Given the description of an element on the screen output the (x, y) to click on. 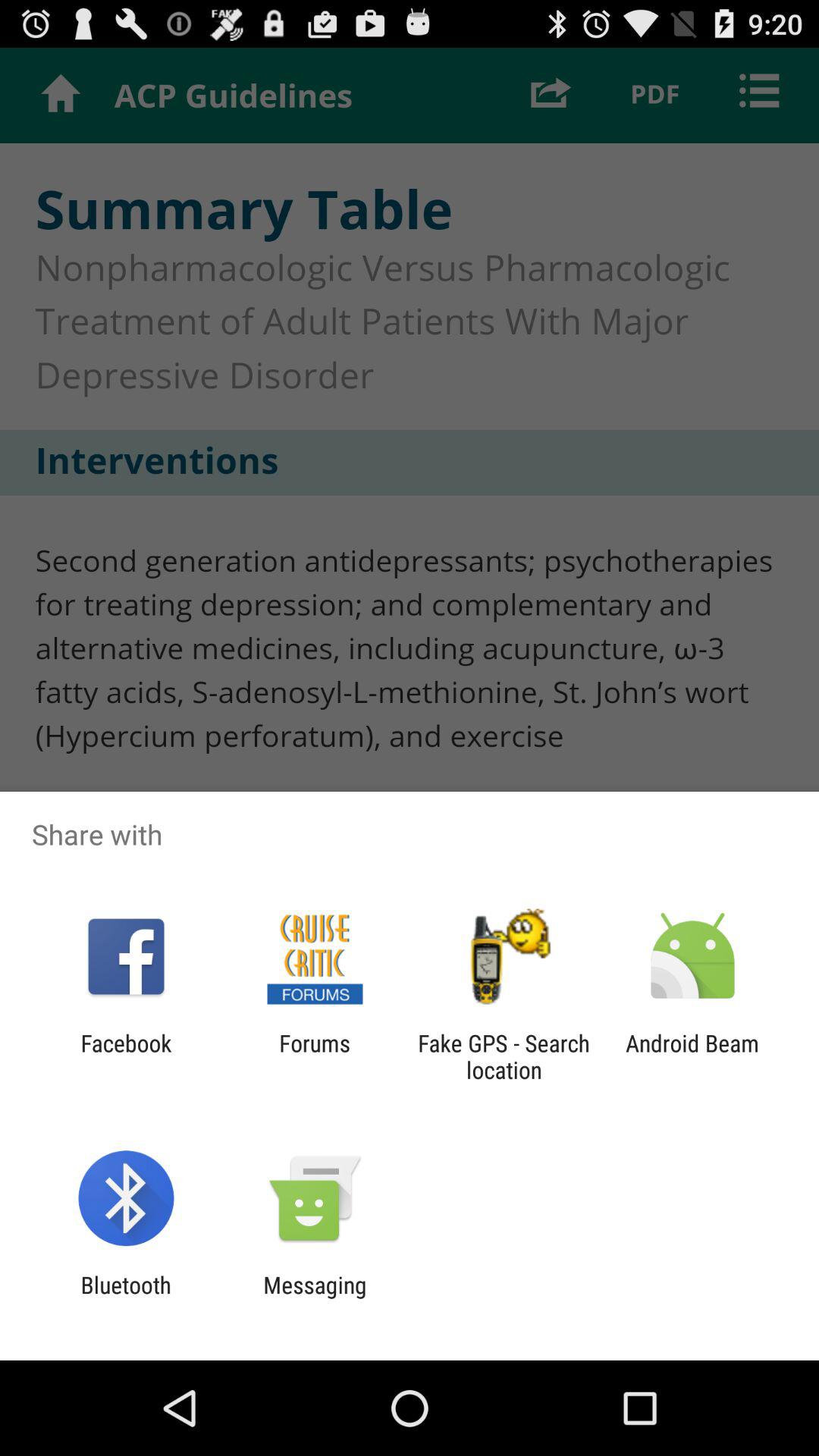
click item to the left of messaging icon (125, 1298)
